Given the description of an element on the screen output the (x, y) to click on. 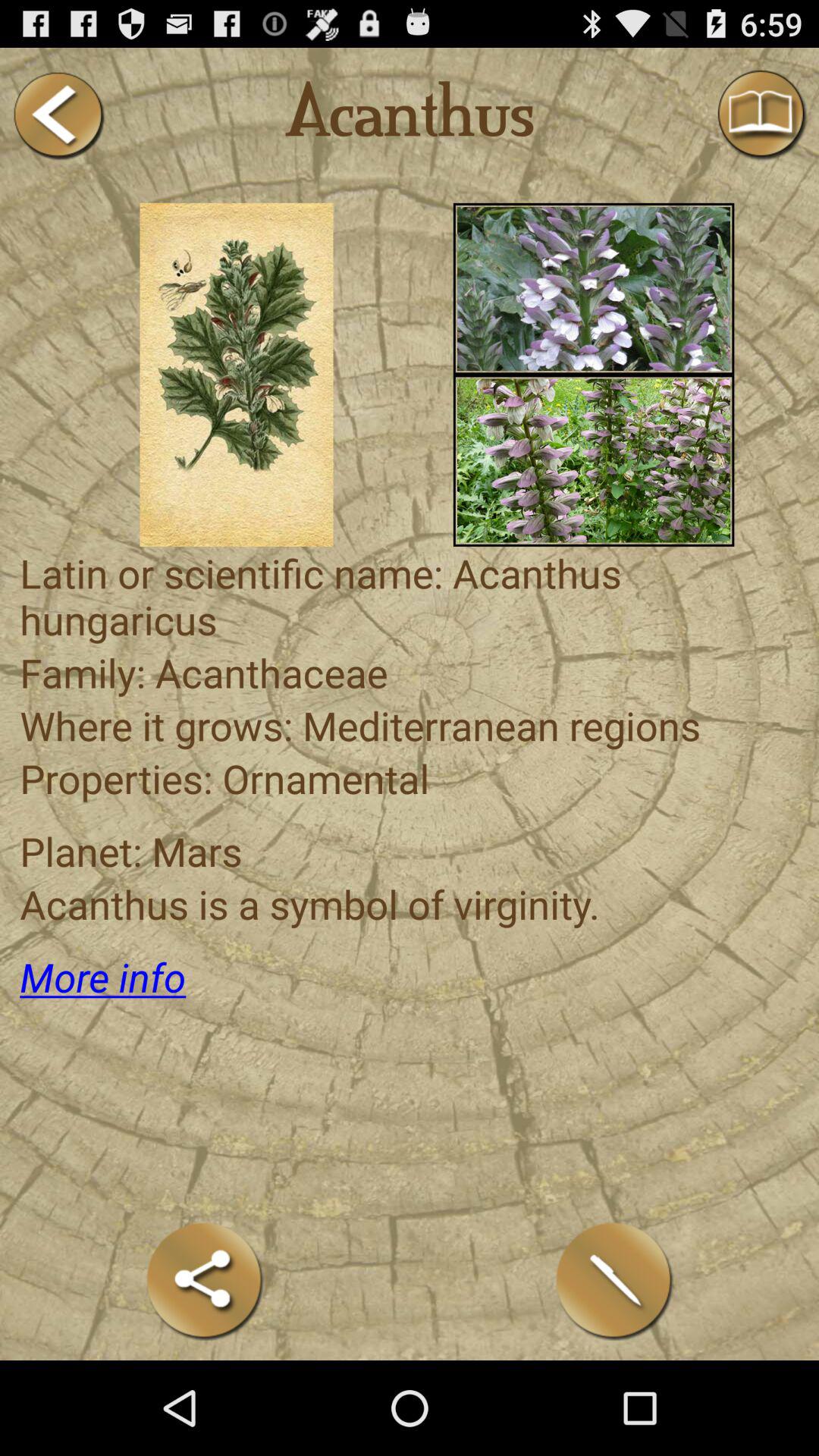
write with the pen (614, 1280)
